Given the description of an element on the screen output the (x, y) to click on. 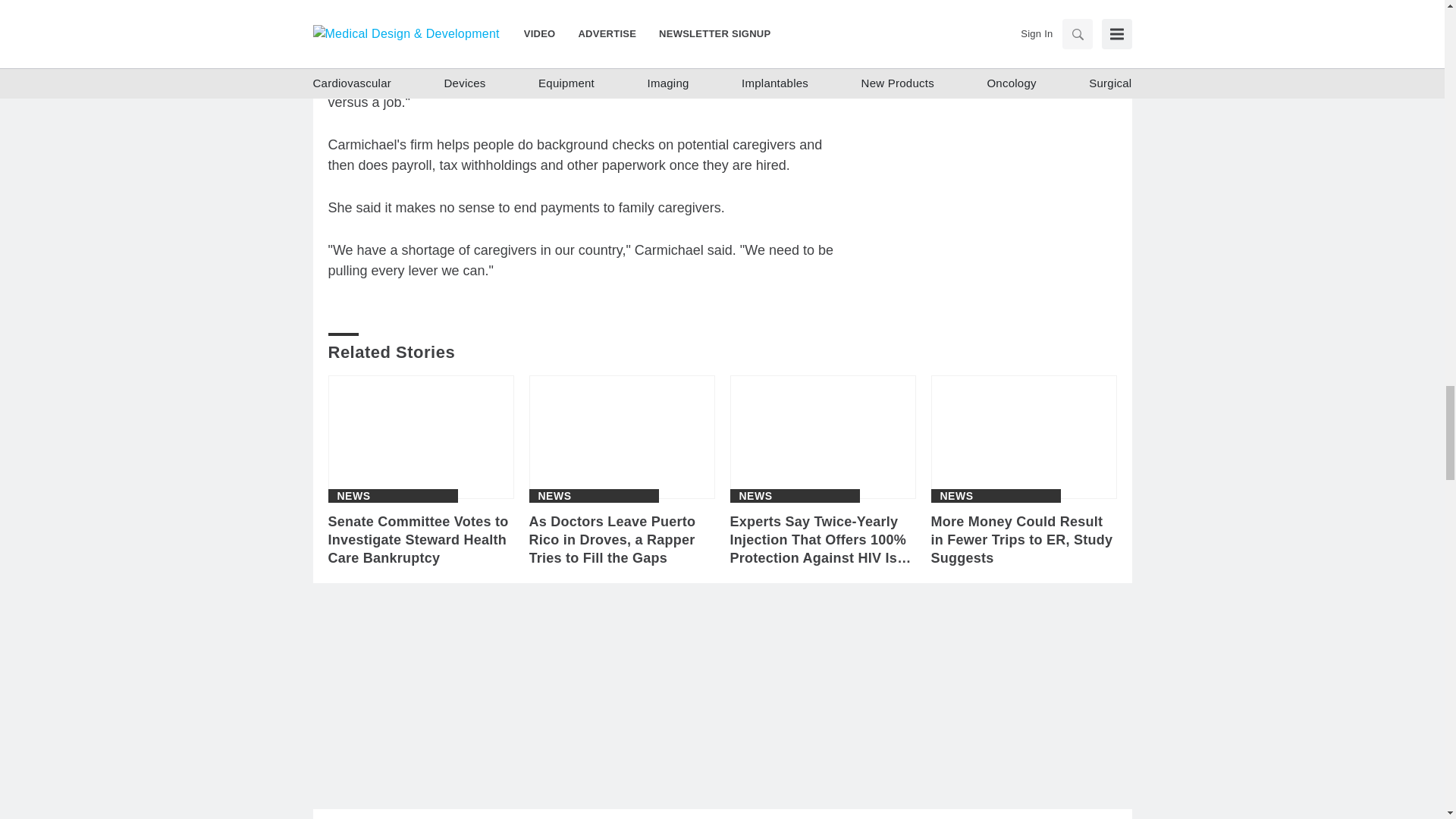
News (555, 495)
News (754, 495)
News (352, 495)
News (957, 495)
